Given the description of an element on the screen output the (x, y) to click on. 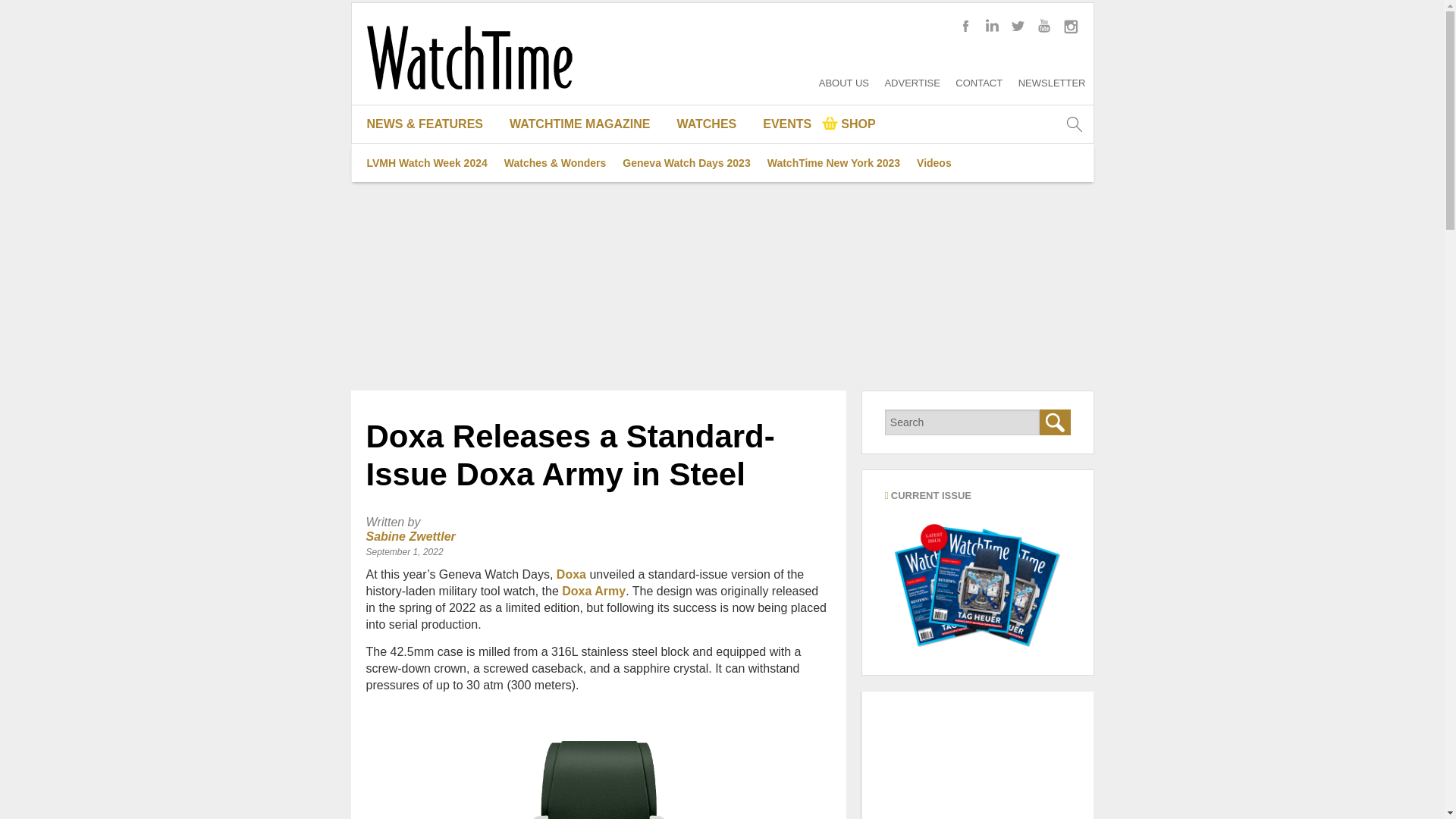
SUBSCRIPTIONS SERVICE (585, 238)
SHOP (848, 124)
WATCHES (712, 124)
PRINT ARCHIVE (585, 199)
Videos (934, 162)
ABOUT US (843, 82)
Geneva Watch Days 2023 (686, 162)
WatchTime Shop (848, 124)
WATCHTIME MAGAZINE (585, 124)
WATCH PRONUNCIATION (712, 199)
CONTACT (979, 82)
3rd party ad content (976, 755)
NEWSLETTER (1051, 82)
WatchTime New York 2023 (833, 162)
